Given the description of an element on the screen output the (x, y) to click on. 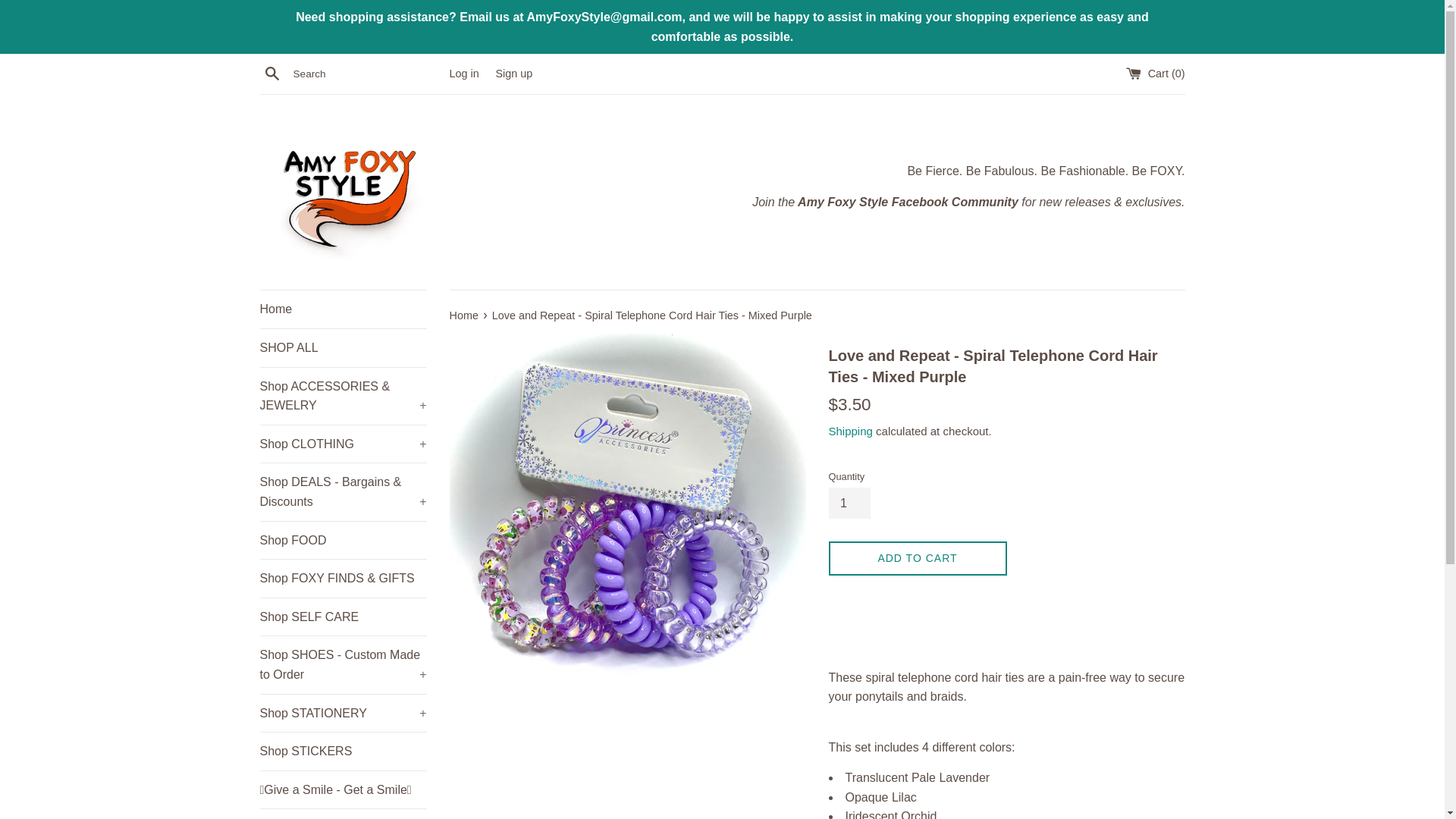
Log in (463, 73)
SHOP ALL (342, 347)
Amy Foxy Style Facebook Community (905, 201)
1 (848, 503)
Shop SELF CARE (342, 617)
Back to the frontpage (464, 315)
Amy Foxy Style Facebook Community (905, 201)
Shop FOOD (342, 540)
Search (271, 73)
Sign up (513, 73)
